Given the description of an element on the screen output the (x, y) to click on. 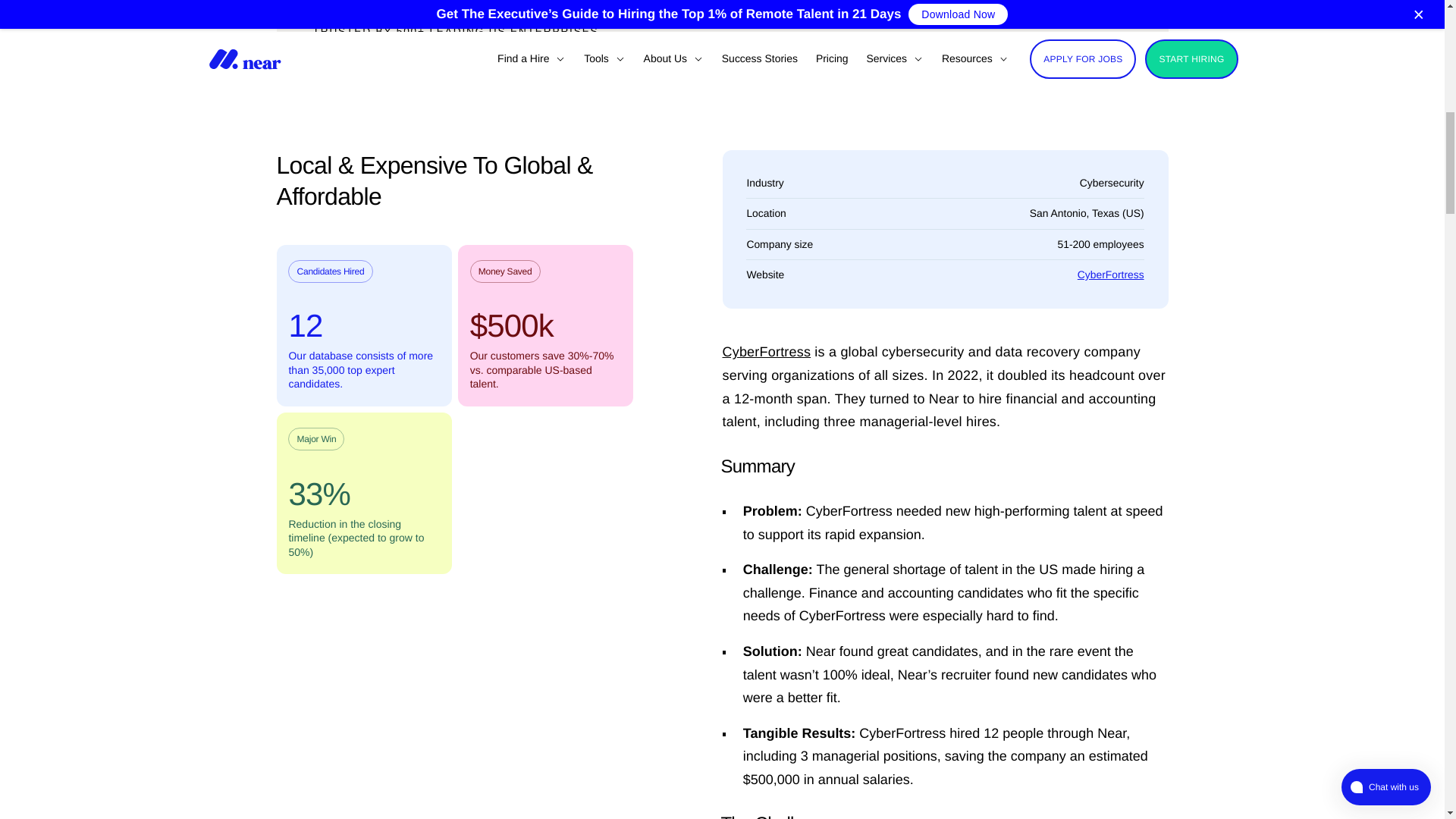
Start Hiring (1075, 9)
